Given the description of an element on the screen output the (x, y) to click on. 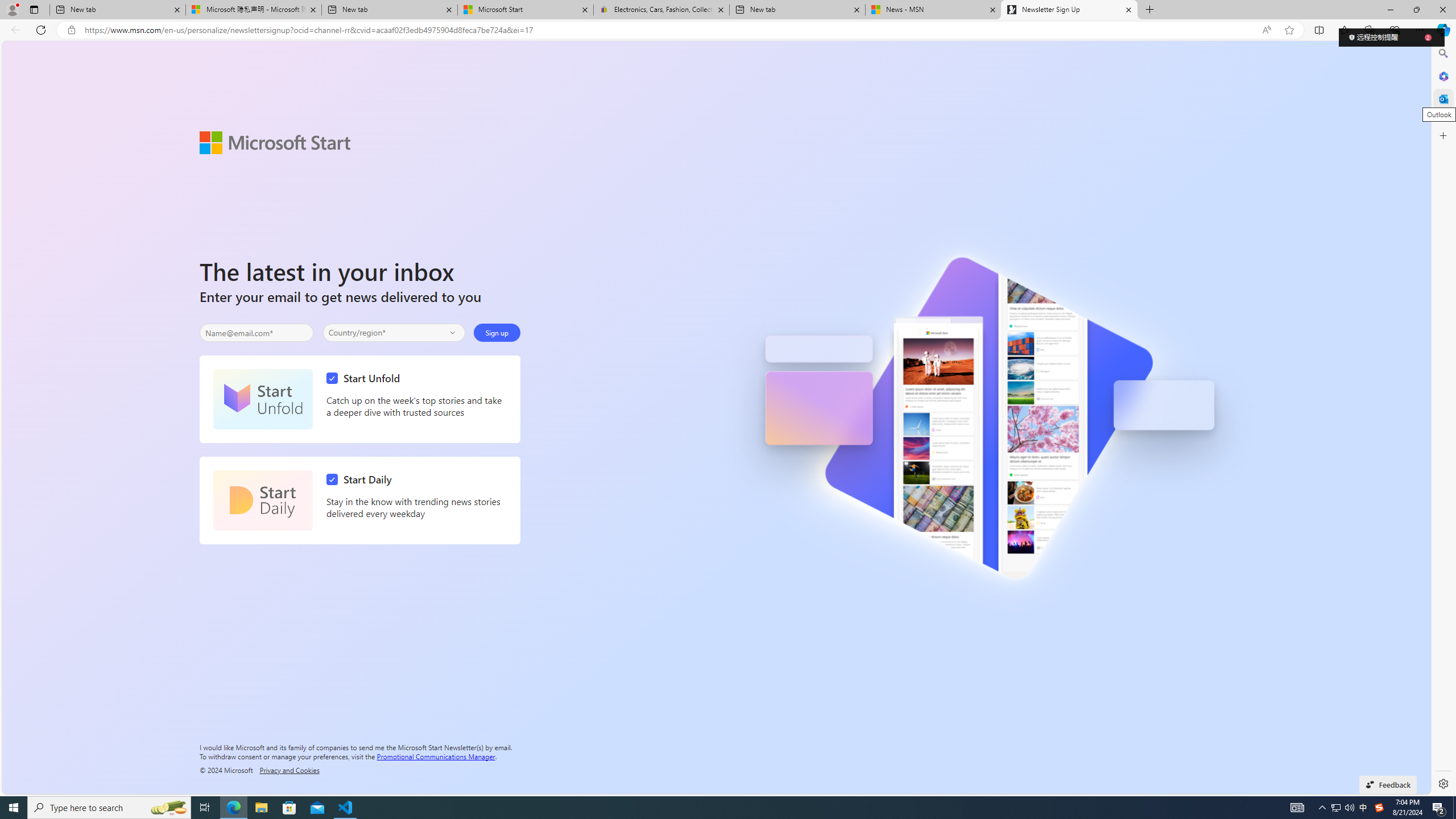
Start Daily (361, 479)
